Given the description of an element on the screen output the (x, y) to click on. 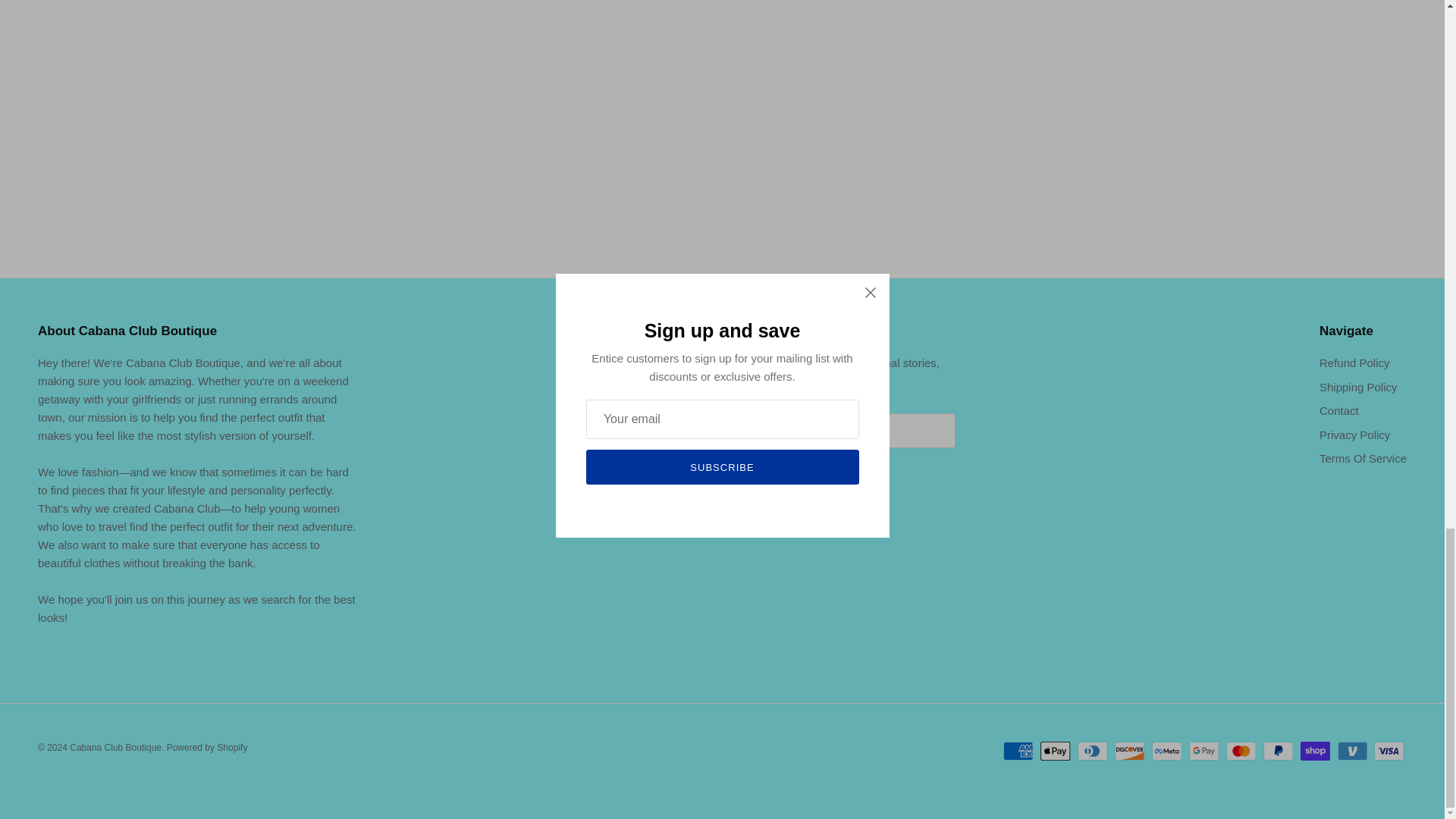
Mastercard (1240, 751)
American Express (1018, 751)
Discover (1129, 751)
Visa (1388, 751)
Meta Pay (1166, 751)
Shop Pay (1315, 751)
Apple Pay (1055, 751)
PayPal (1277, 751)
Diners Club (1092, 751)
Venmo (1352, 751)
Google Pay (1203, 751)
